Given the description of an element on the screen output the (x, y) to click on. 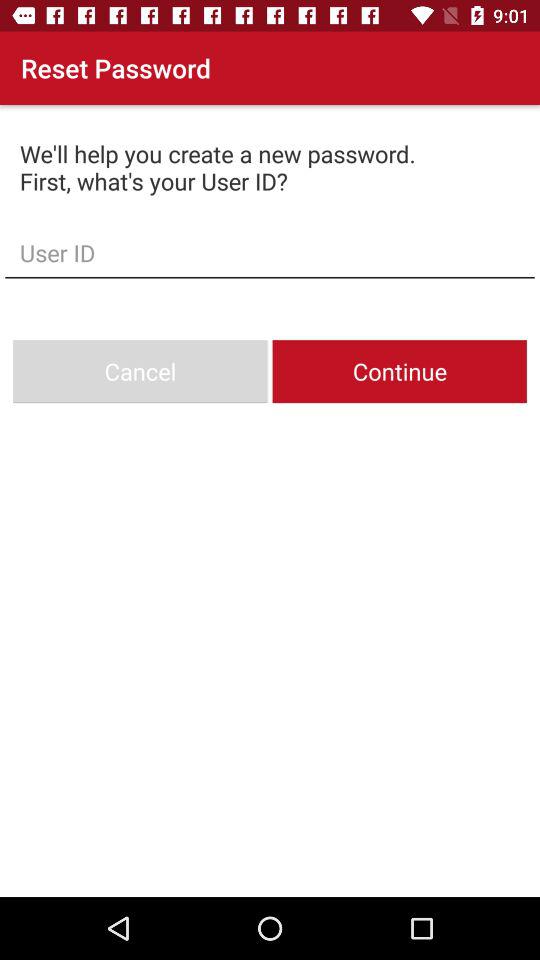
enter user id (270, 252)
